Given the description of an element on the screen output the (x, y) to click on. 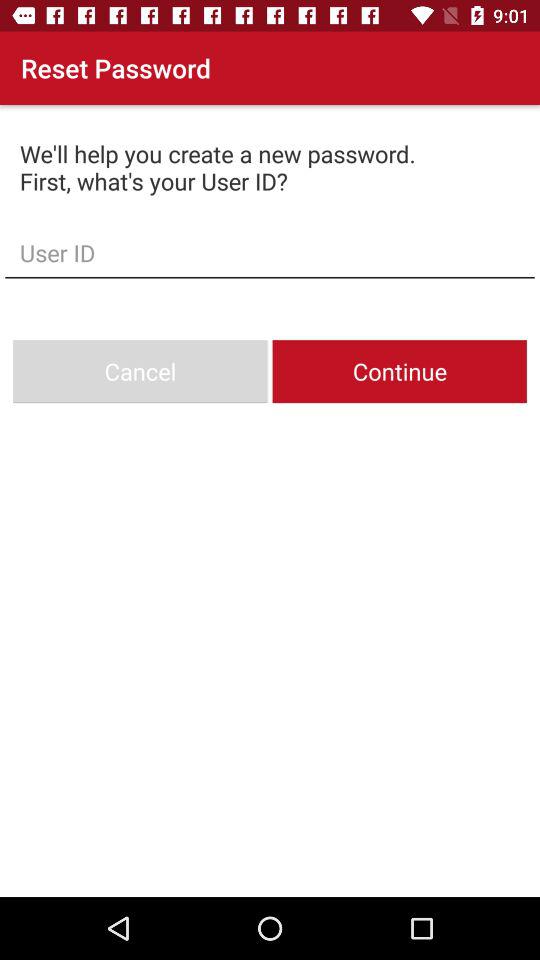
enter user id (270, 252)
